Given the description of an element on the screen output the (x, y) to click on. 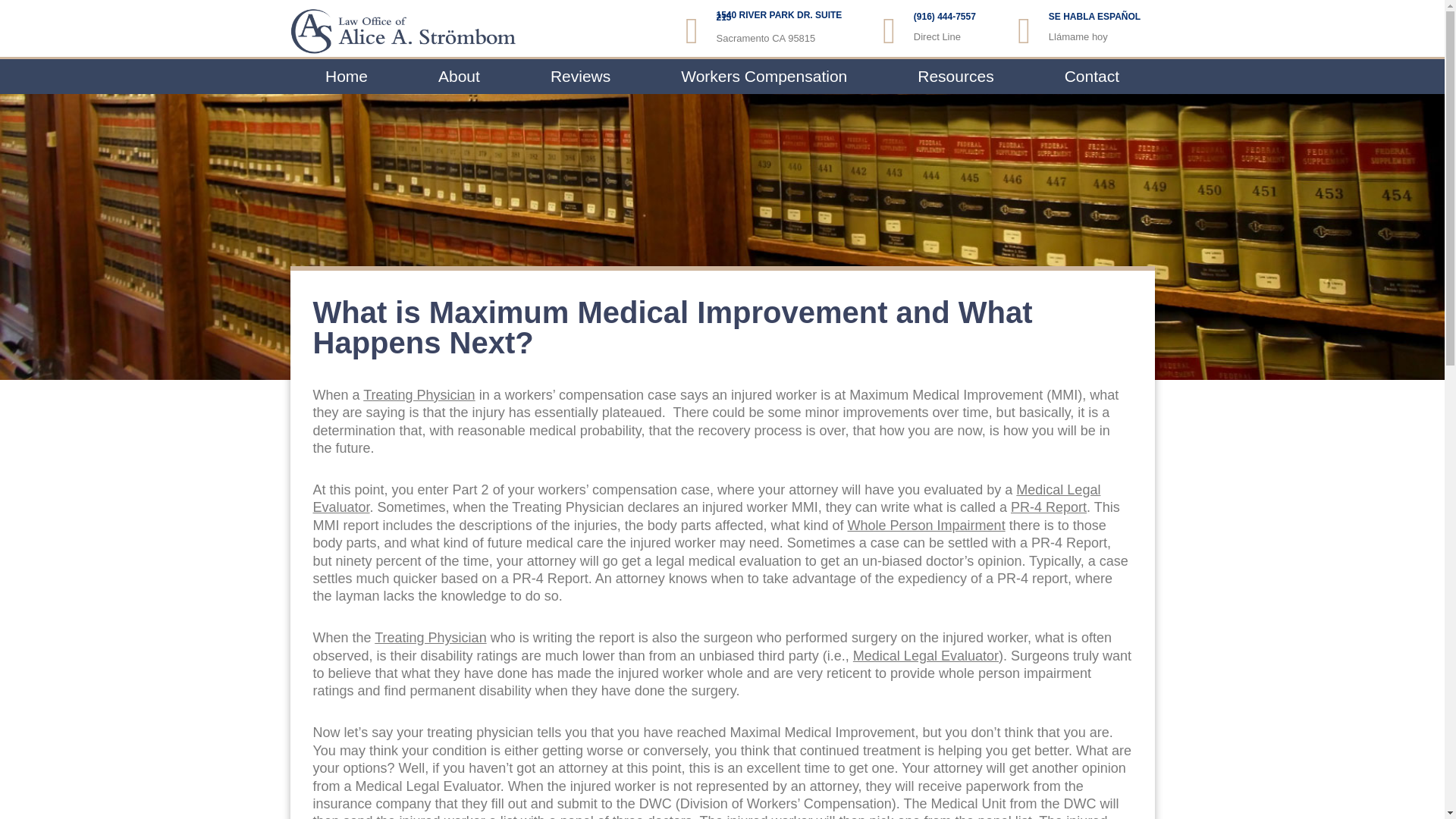
Contact (1091, 76)
Home (346, 76)
Workers Compensation (764, 76)
Resources (955, 76)
Reviews (580, 76)
About (459, 76)
